Given the description of an element on the screen output the (x, y) to click on. 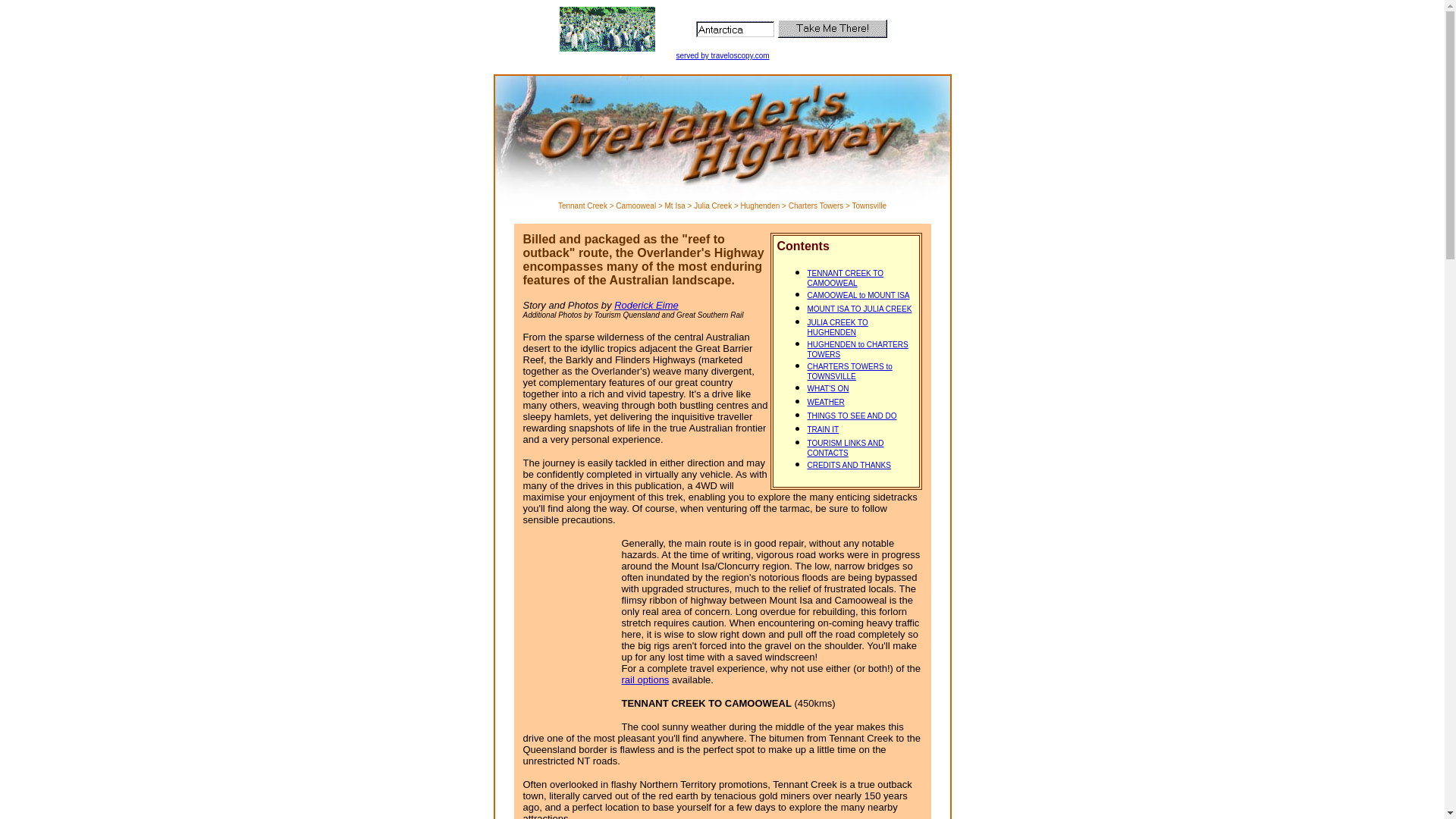
THINGS TO SEE AND DO Element type: text (851, 415)
JULIA CREEK TO HUGHENDEN Element type: text (836, 327)
HUGHENDEN to CHARTERS TOWERS Element type: text (856, 349)
rail options Element type: text (645, 679)
TRAIN IT Element type: text (822, 429)
TOURISM LINKS AND CONTACTS Element type: text (844, 448)
WHAT'S ON Element type: text (827, 388)
CAMOOWEAL to MOUNT ISA Element type: text (857, 295)
TENNANT CREEK TO CAMOOWEAL Element type: text (844, 278)
CREDITS AND THANKS Element type: text (848, 465)
Advertisement Element type: hover (721, 40)
Roderick Eime Element type: text (646, 304)
Advertisement Element type: hover (569, 630)
WEATHER Element type: text (825, 402)
CHARTERS TOWERS to TOWNSVILLE Element type: text (848, 371)
MOUNT ISA TO JULIA CREEK Element type: text (858, 308)
